Given the description of an element on the screen output the (x, y) to click on. 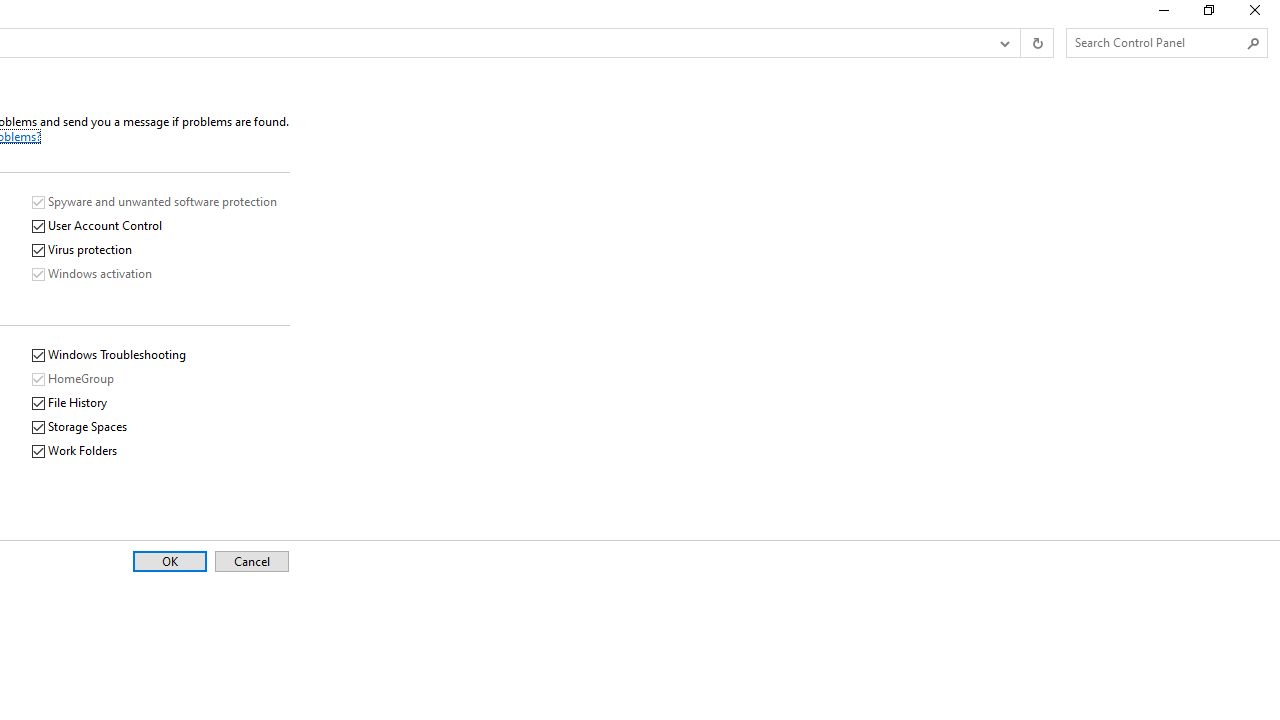
HomeGroup (74, 379)
Refresh "Change Security and Maintenance settings" (F5) (1036, 43)
Address band toolbar (1019, 43)
